Given the description of an element on the screen output the (x, y) to click on. 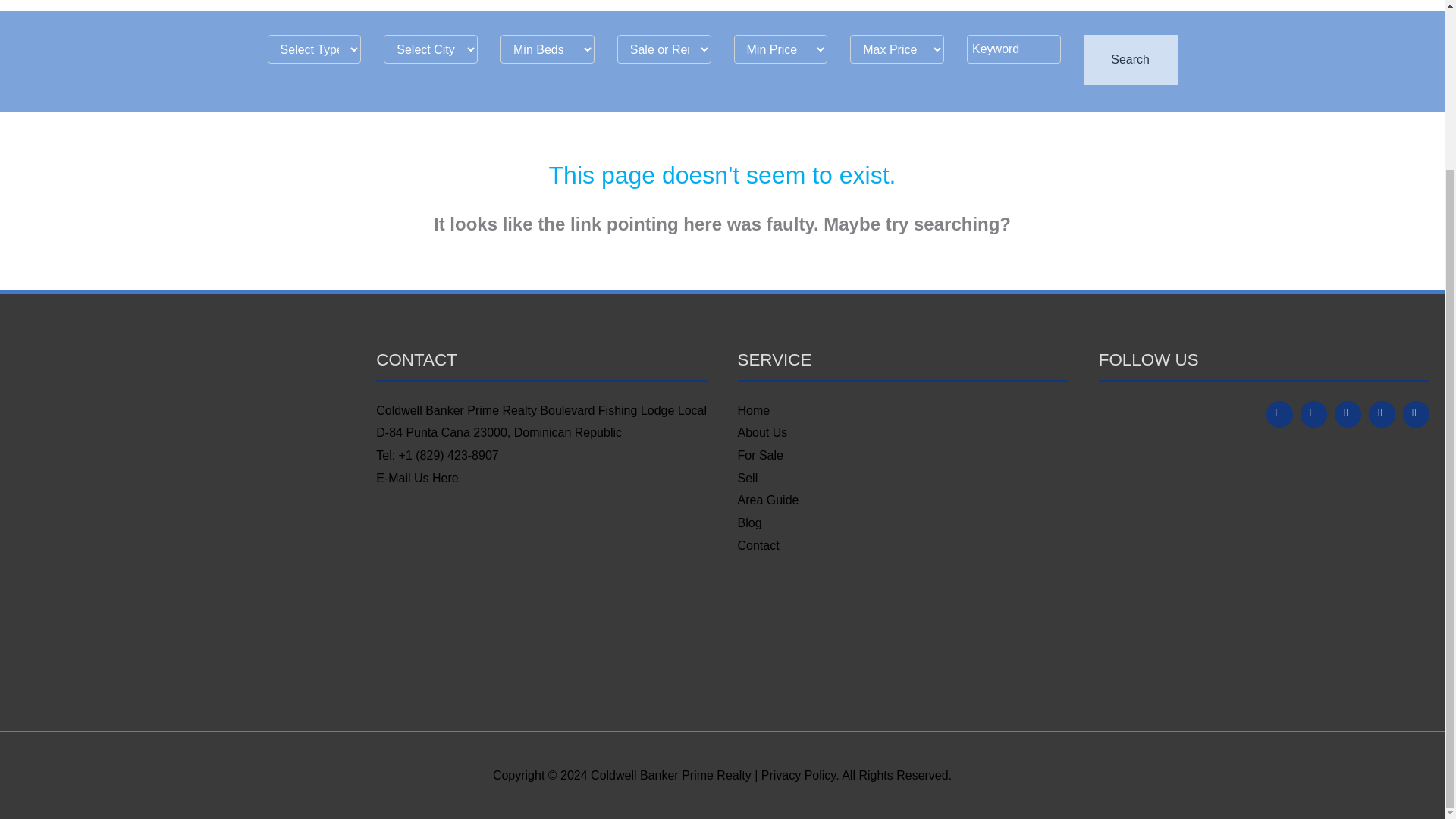
Search (1130, 60)
AREA GUIDE (1122, 5)
SELL (1056, 5)
HOME (862, 5)
FOR SALE (995, 5)
CONTACT (1236, 5)
BLOG (1185, 5)
Search (1130, 60)
Home (753, 410)
About Us (761, 431)
